Given the description of an element on the screen output the (x, y) to click on. 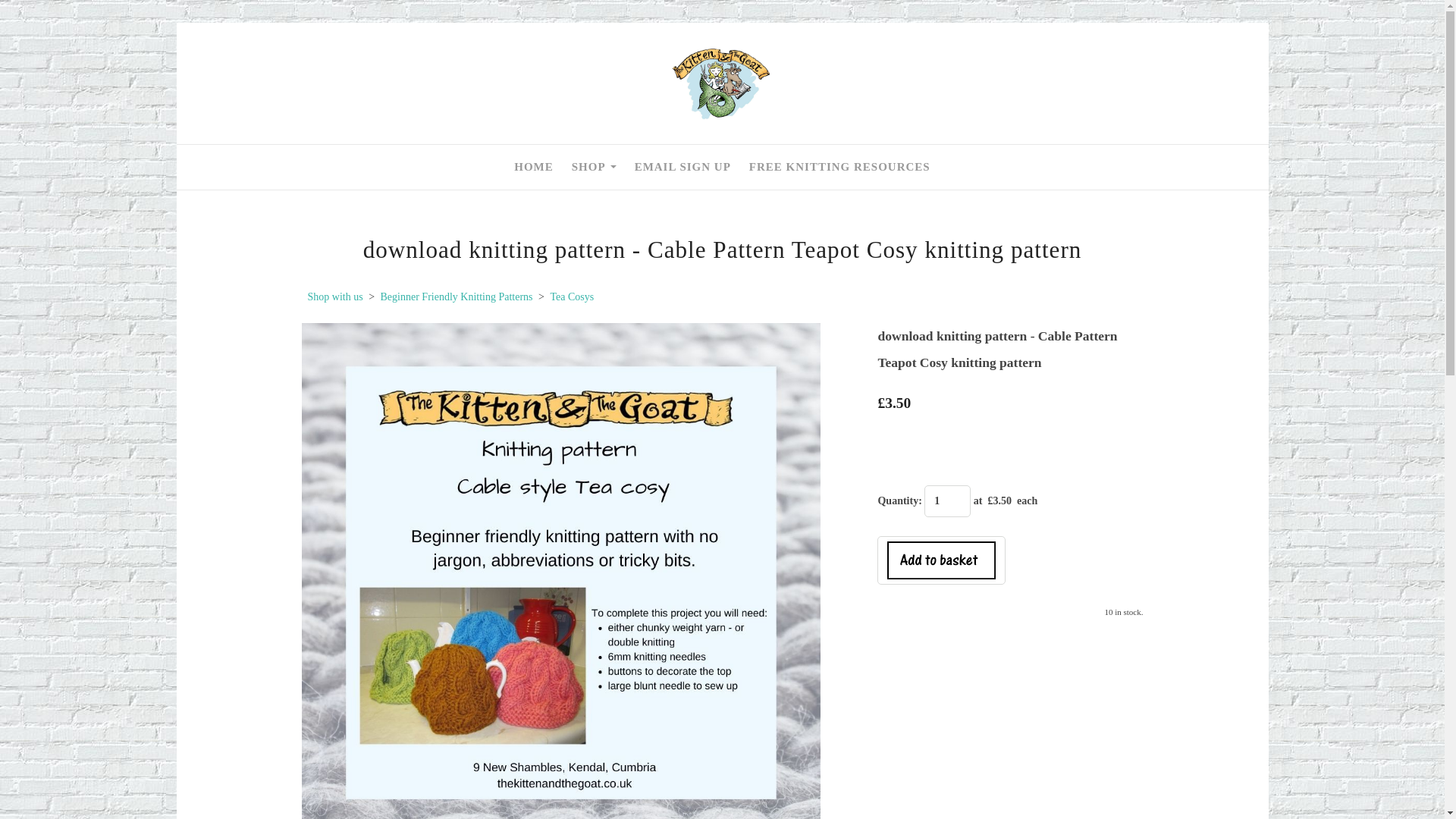
Tea Cosys (571, 296)
1 (947, 500)
HOME (533, 166)
Beginner Friendly Knitting Patterns (456, 296)
FREE KNITTING RESOURCES (839, 166)
SHOP (594, 166)
EMAIL SIGN UP (682, 166)
Shop with us (335, 296)
